Given the description of an element on the screen output the (x, y) to click on. 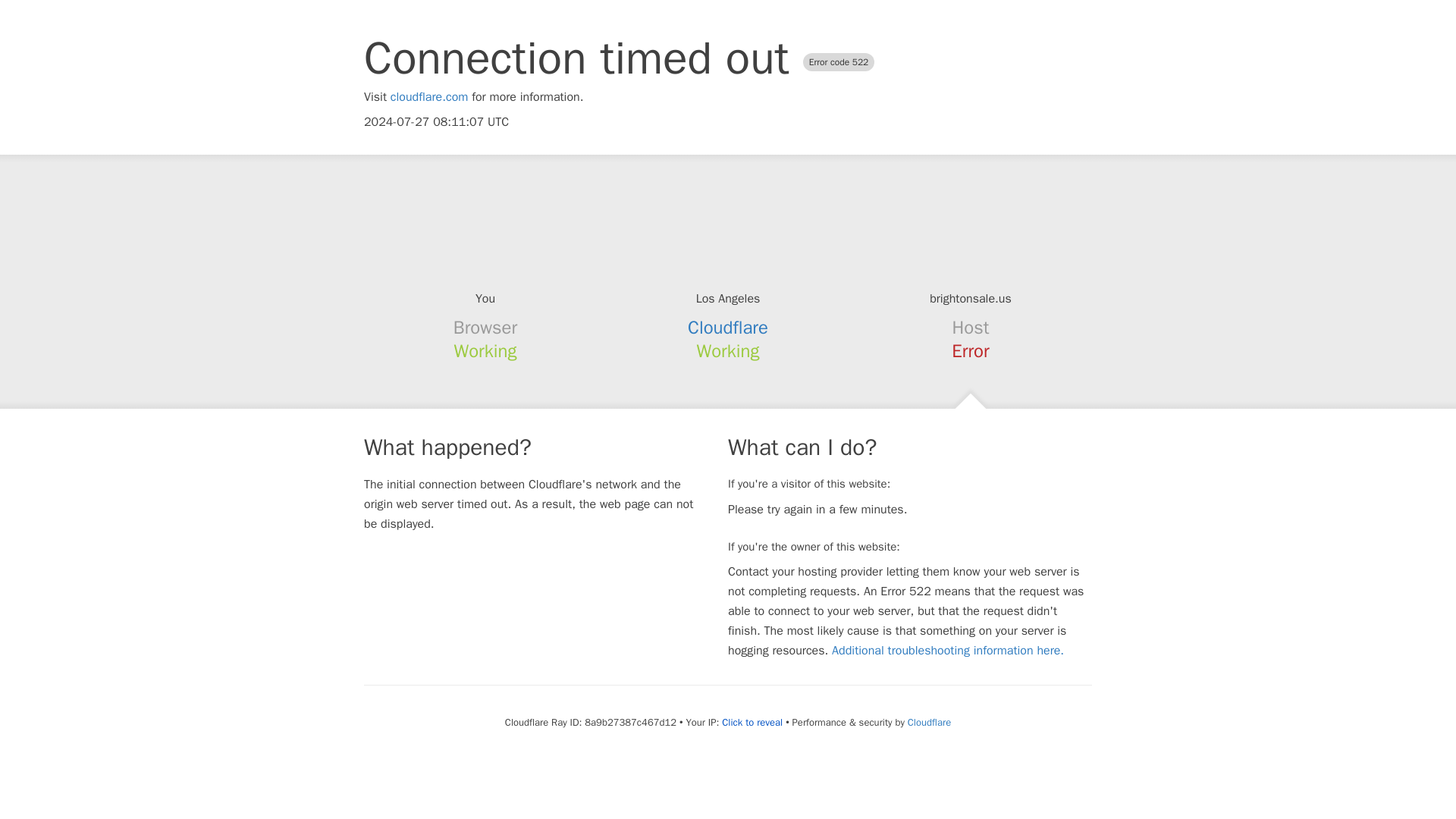
Cloudflare (727, 327)
Additional troubleshooting information here. (947, 650)
Cloudflare (928, 721)
Click to reveal (752, 722)
cloudflare.com (429, 96)
